Given the description of an element on the screen output the (x, y) to click on. 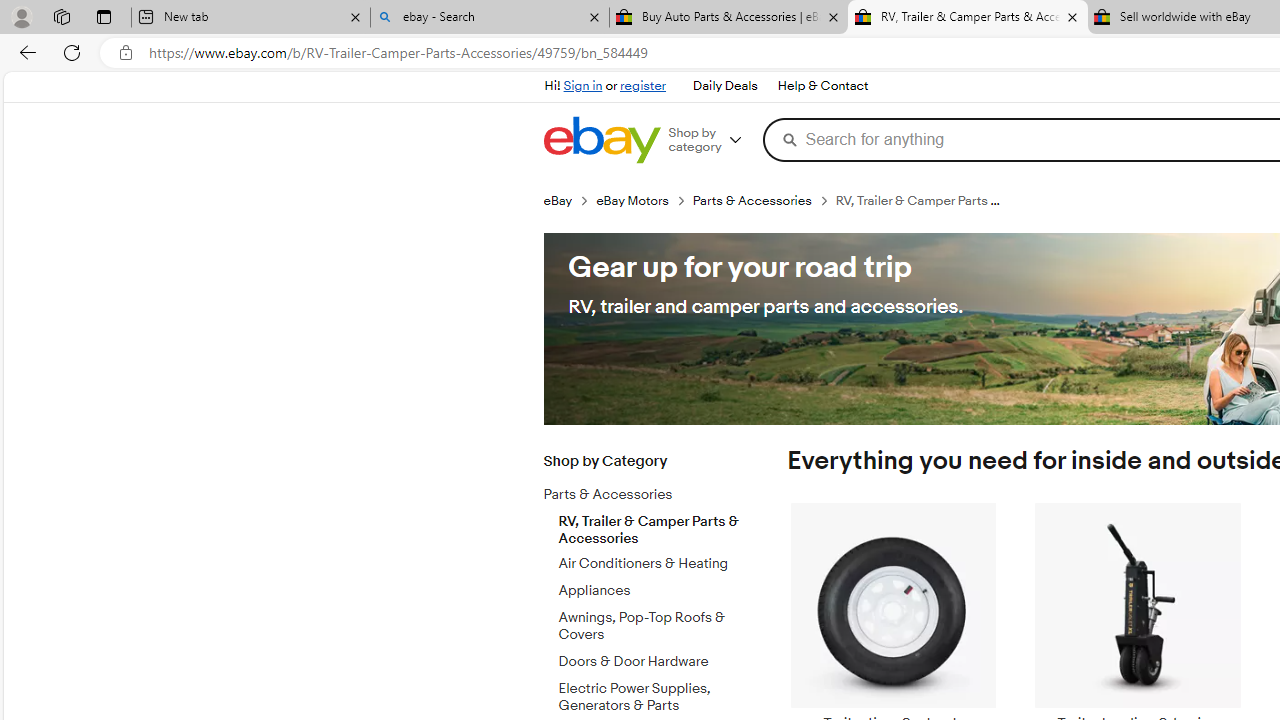
Electric Power Supplies, Generators & Parts (653, 693)
Appliances (653, 587)
Awnings, Pop-Top Roofs & Covers (653, 623)
Parts & Accessories (637, 495)
Close tab (1072, 16)
Back (24, 52)
Doors & Door Hardware (653, 658)
Workspaces (61, 16)
eBay (569, 200)
Air Conditioners & Heating (653, 560)
eBay (557, 200)
New tab (250, 17)
Daily Deals (724, 86)
Help & Contact (821, 85)
